Given the description of an element on the screen output the (x, y) to click on. 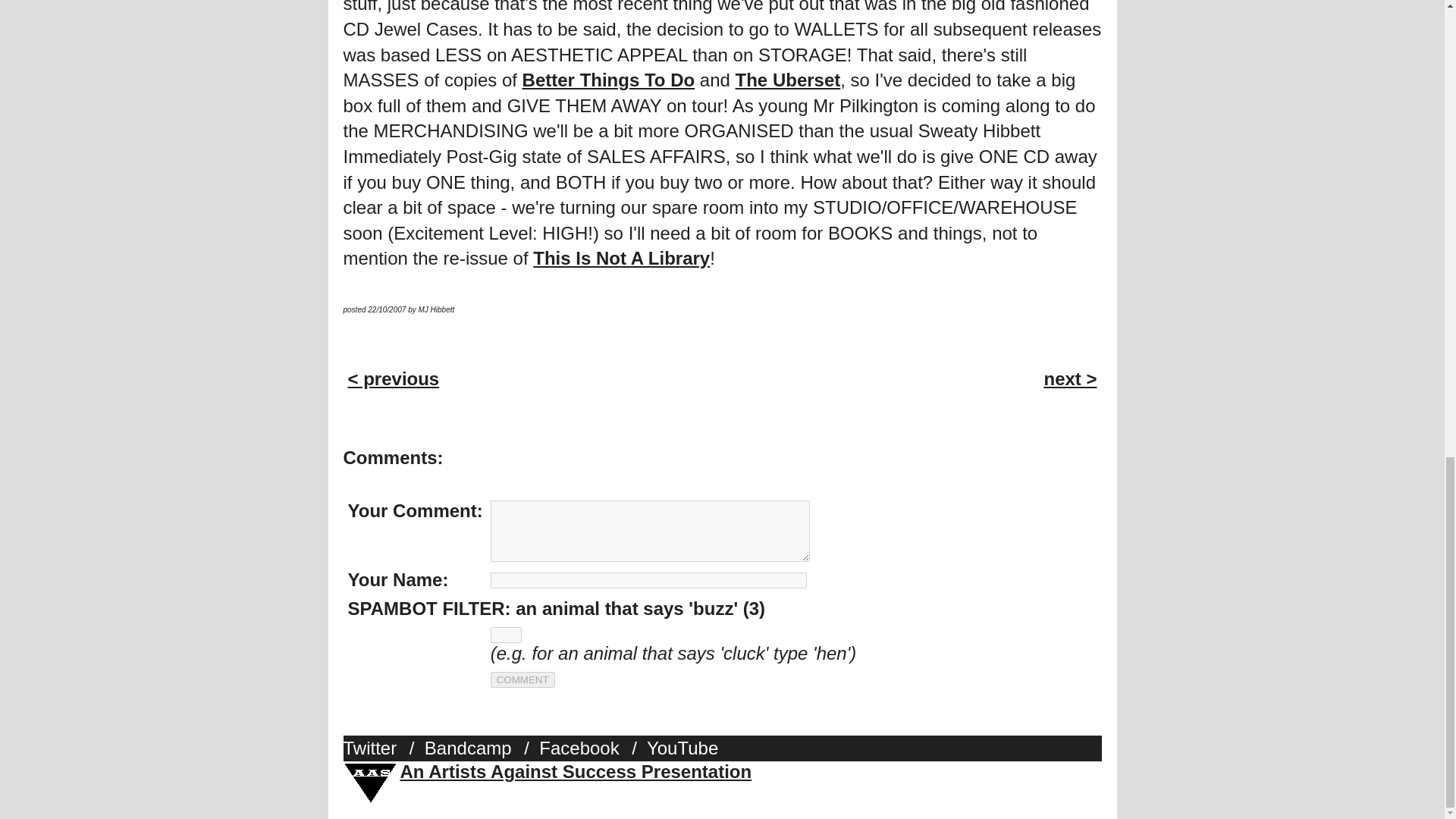
Twitter (373, 747)
This Is Not A Library (621, 258)
An Artists Against Success Presentation (576, 771)
Better Things To Do (608, 79)
The Uberset (788, 79)
YouTube (685, 747)
Facebook (582, 747)
COMMENT (522, 679)
Bandcamp (472, 747)
COMMENT (522, 679)
